Given the description of an element on the screen output the (x, y) to click on. 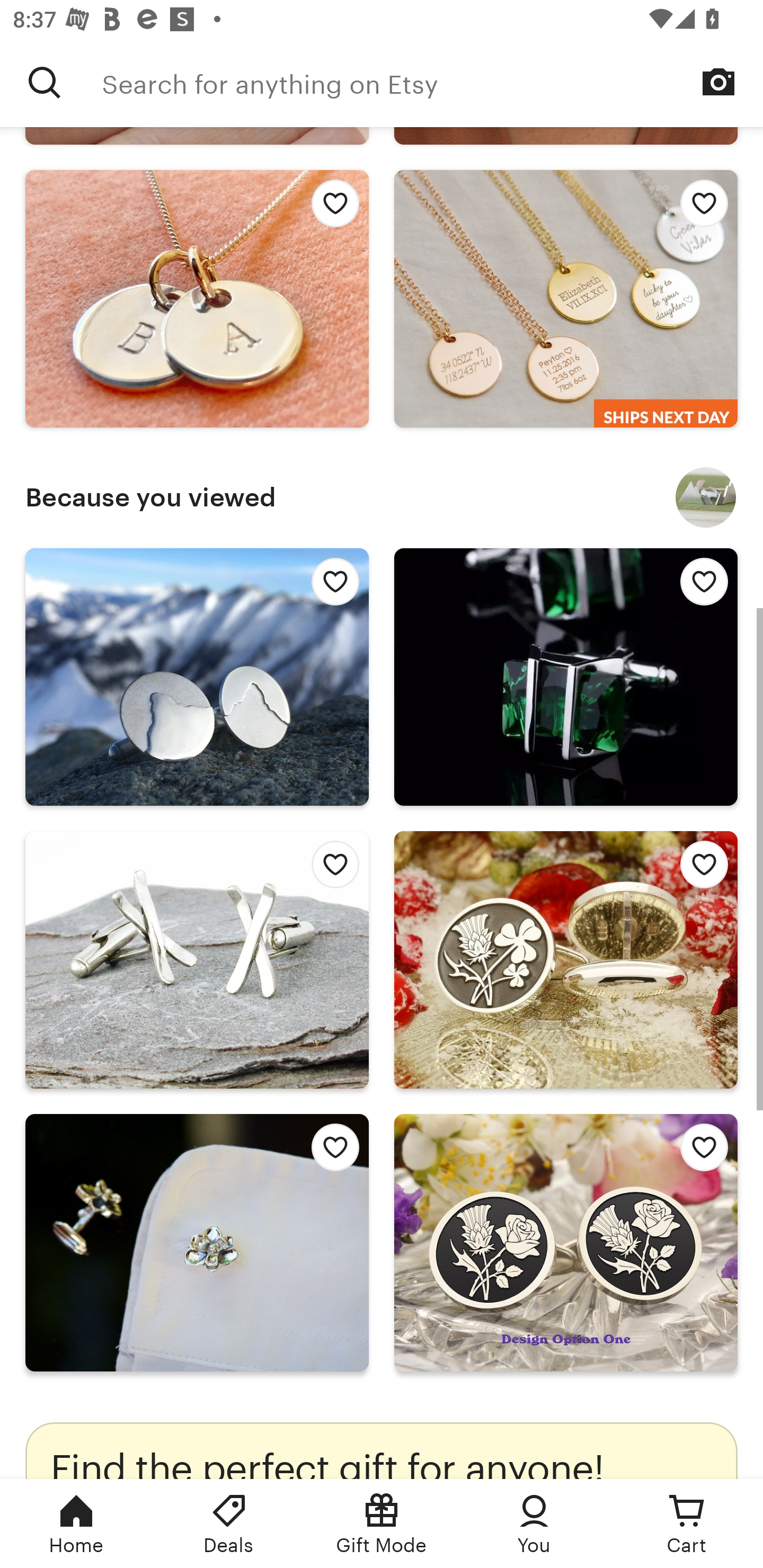
Search for anything on Etsy (44, 82)
Search by image (718, 81)
Search for anything on Etsy (432, 82)
Deals (228, 1523)
Gift Mode (381, 1523)
You (533, 1523)
Cart (686, 1523)
